Given the description of an element on the screen output the (x, y) to click on. 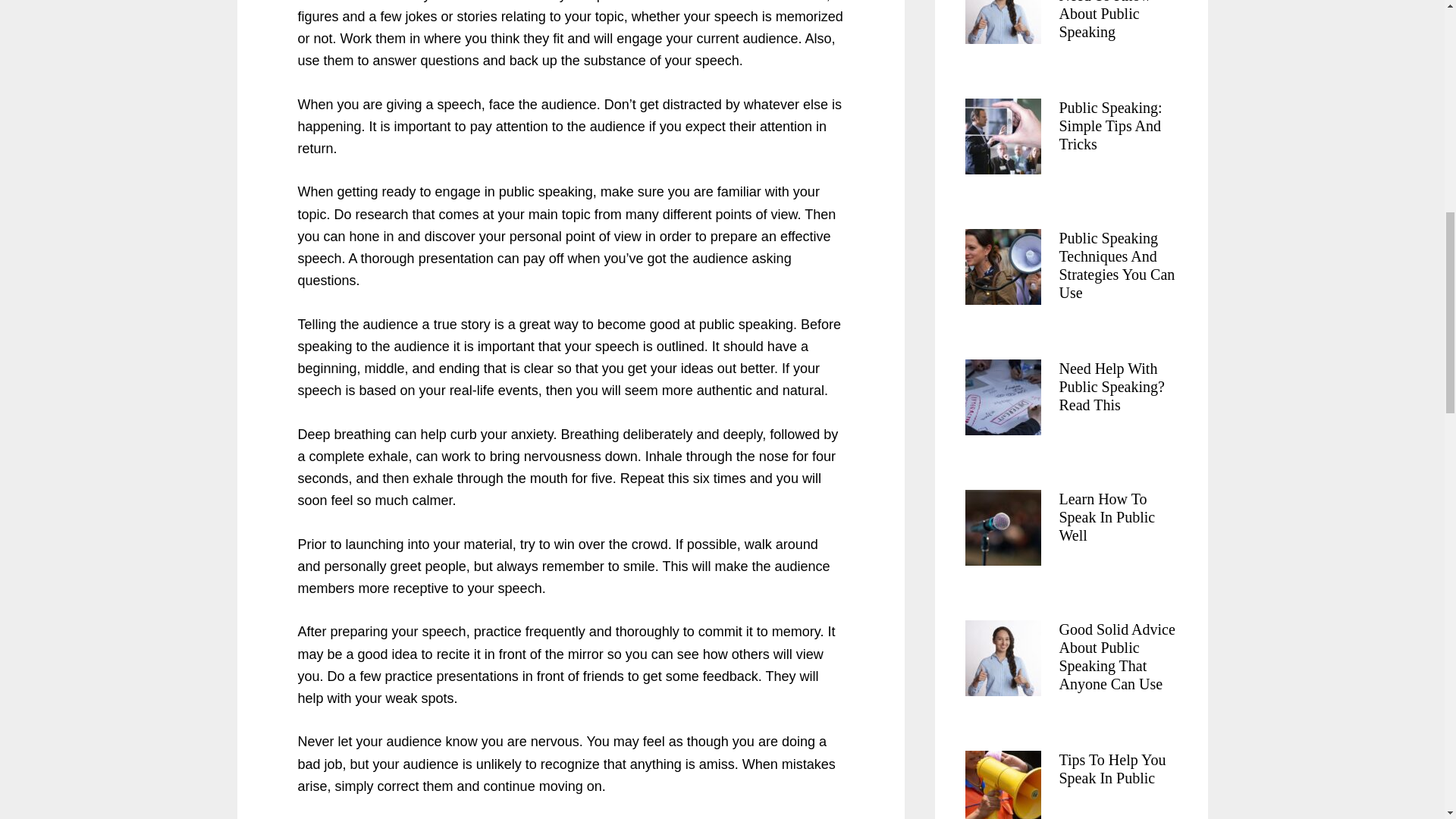
Public Speaking: Simple Tips And Tricks (1109, 125)
Information You Need To Know About Public Speaking (1108, 20)
Public Speaking Techniques And Strategies You Can Use (1116, 265)
Need Help With Public Speaking? Read This (1110, 386)
